Given the description of an element on the screen output the (x, y) to click on. 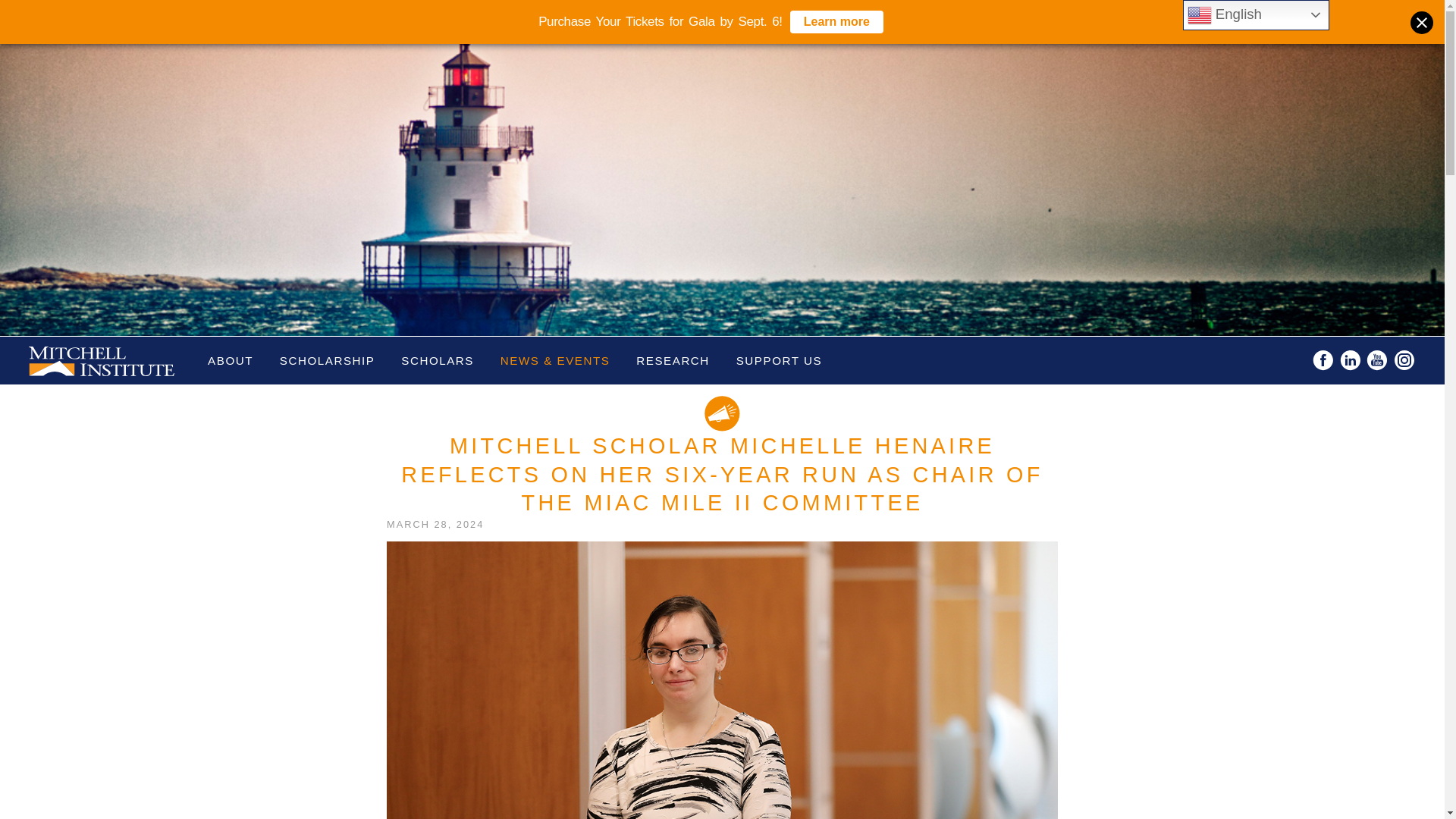
RESEARCH (672, 360)
SUPPORT US (779, 360)
SCHOLARSHIP (327, 360)
SCHOLARS (437, 360)
ABOUT (230, 360)
